Given the description of an element on the screen output the (x, y) to click on. 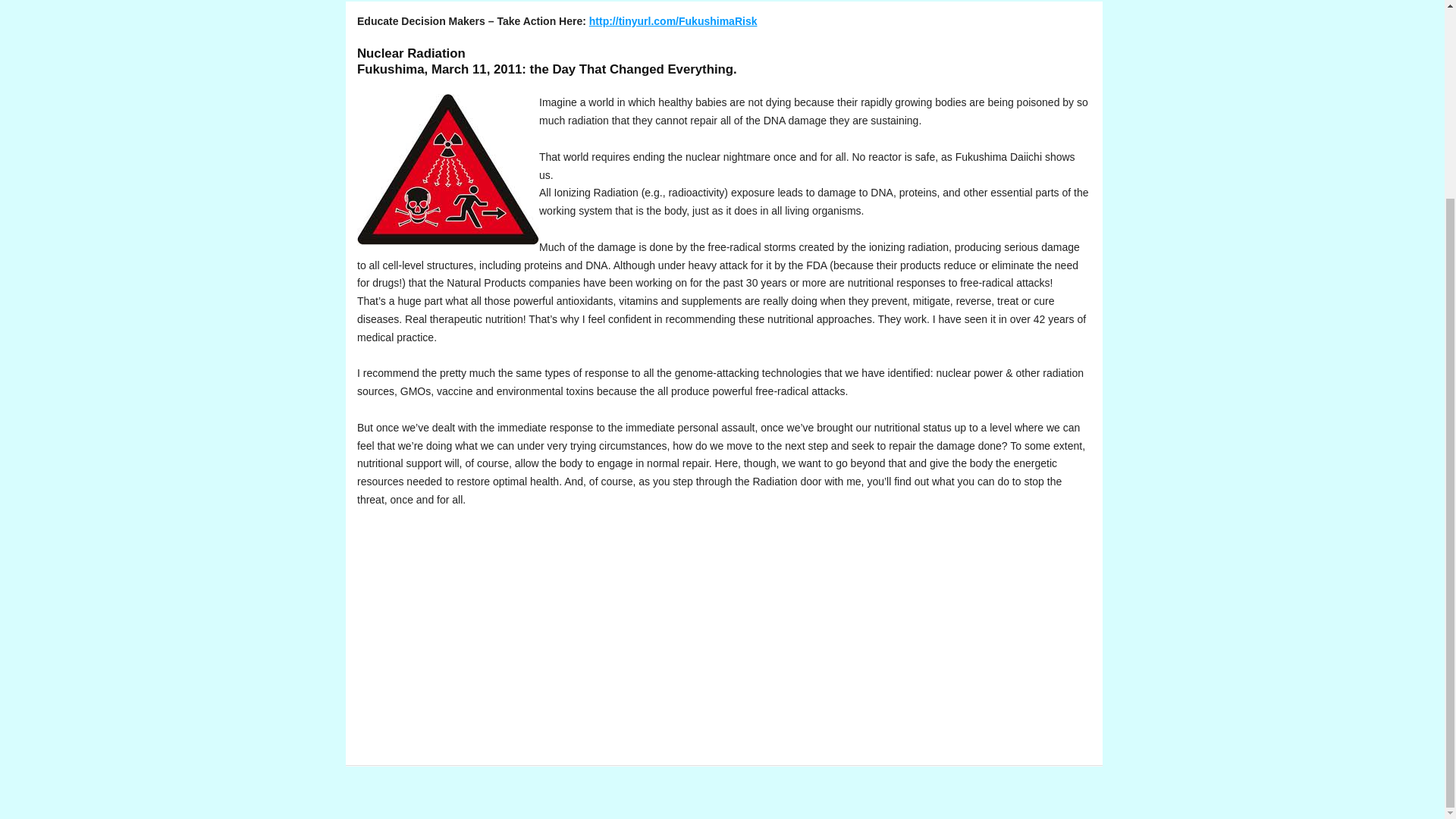
Radiation dangers (447, 169)
